Given the description of an element on the screen output the (x, y) to click on. 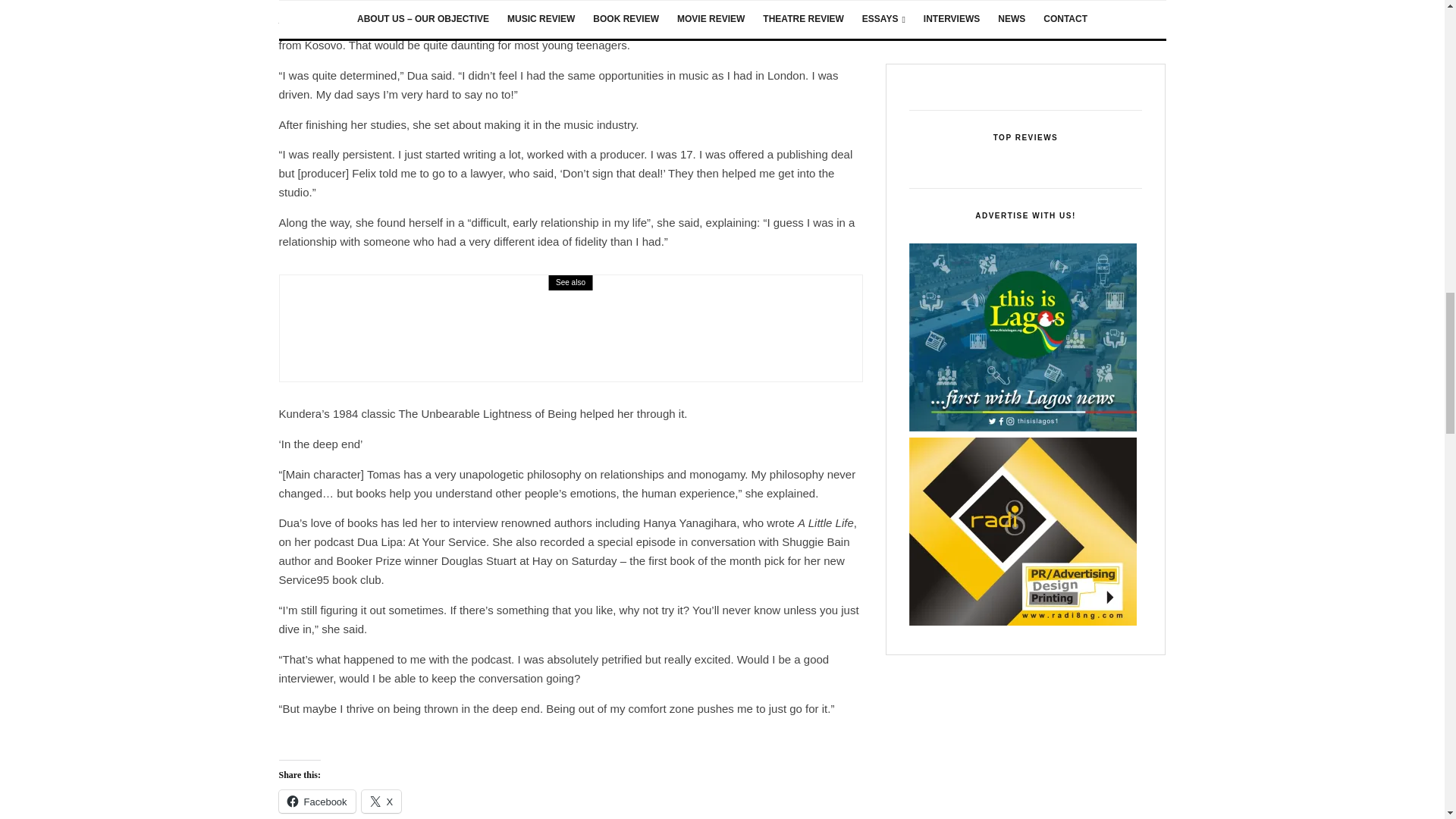
Click to share on X (381, 801)
Click to share on Facebook (317, 801)
